Given the description of an element on the screen output the (x, y) to click on. 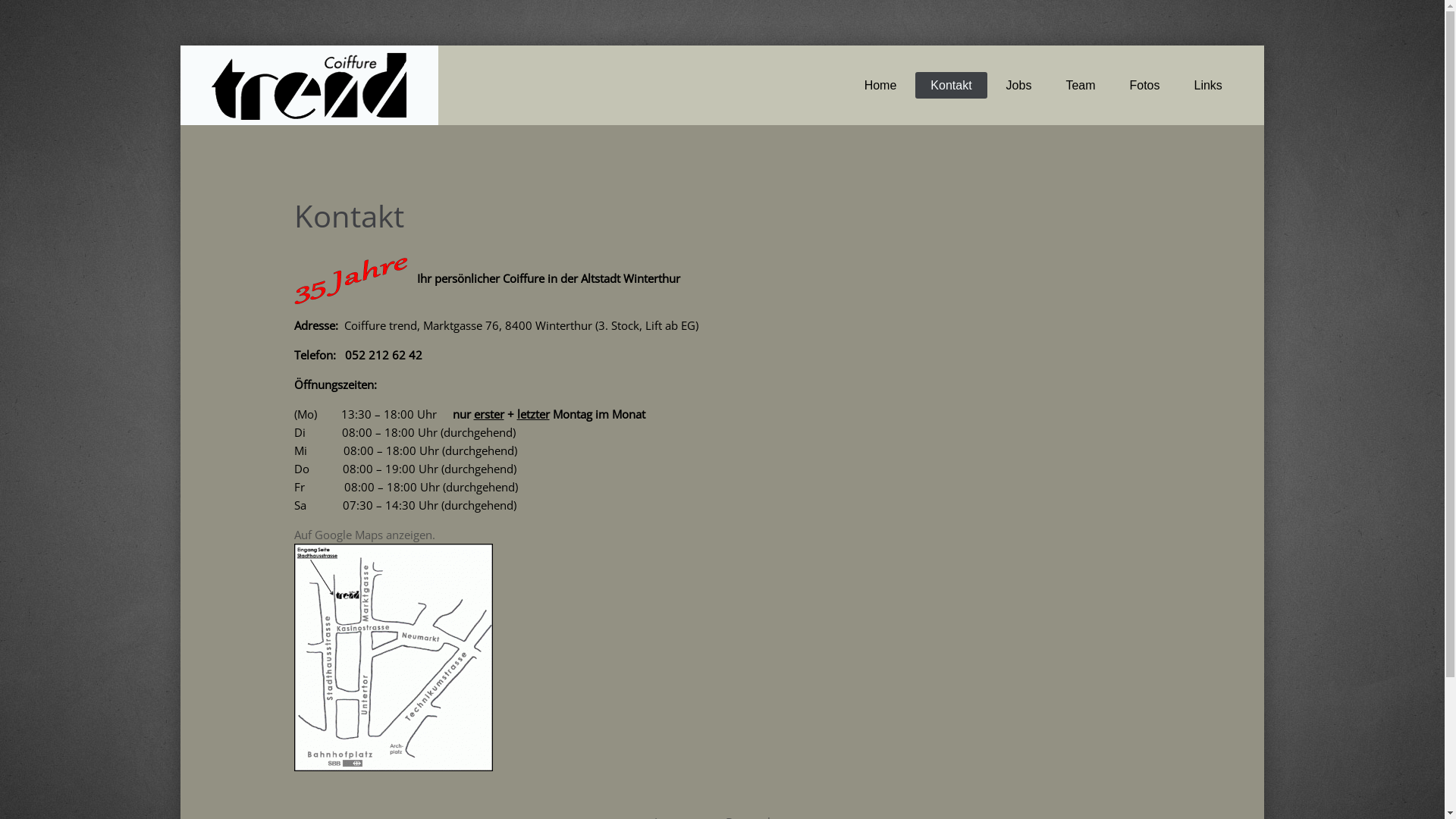
Fotos Element type: text (1144, 85)
Auf Google Maps anzeigen. Element type: text (364, 534)
Kontakt Element type: text (950, 85)
Links Element type: text (1208, 85)
Home Element type: text (880, 85)
Team Element type: text (1080, 85)
Jobs Element type: text (1019, 85)
